Given the description of an element on the screen output the (x, y) to click on. 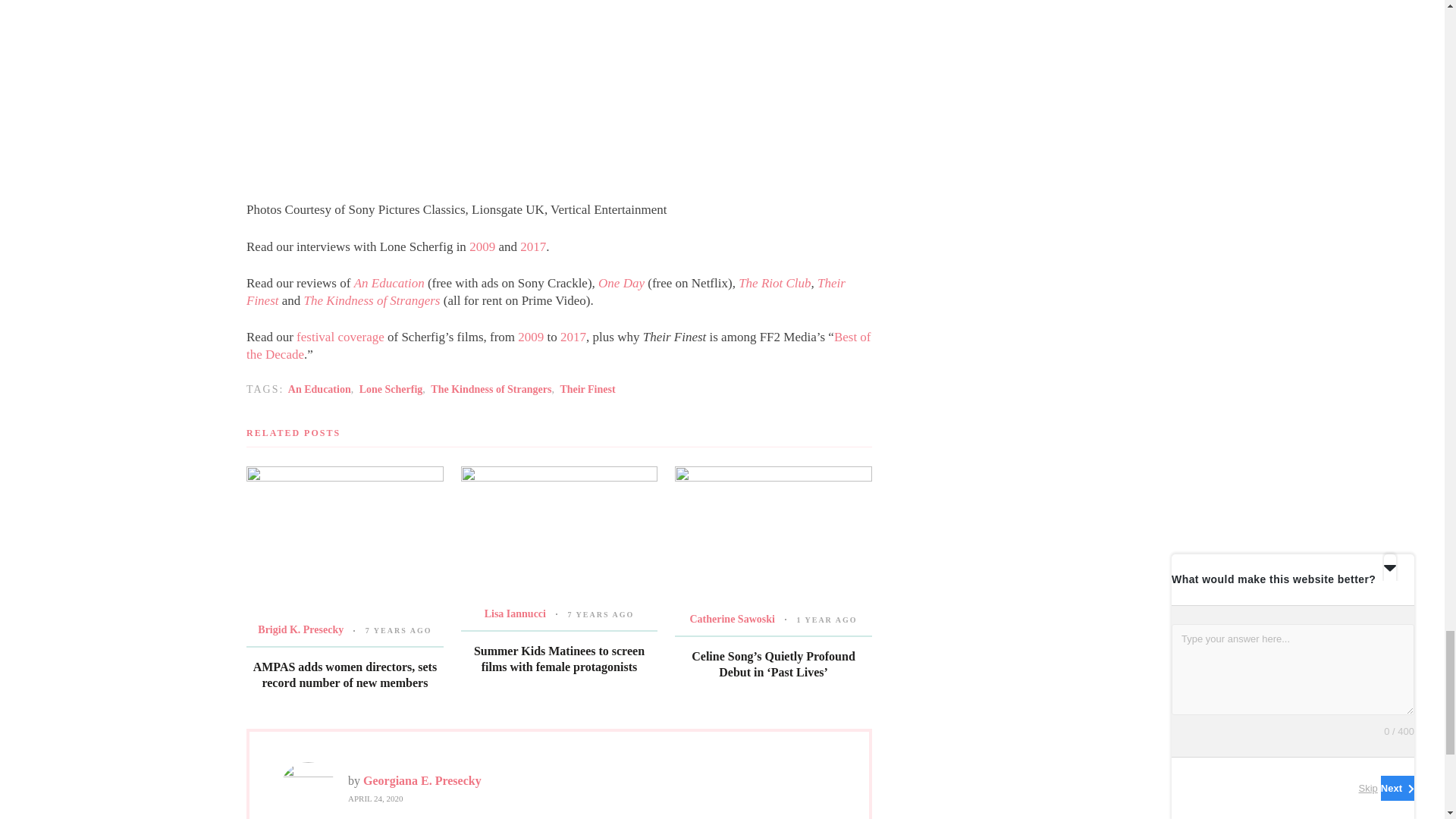
Posts by Lisa Iannucci (515, 613)
Posts by Georgiana E. Presecky (421, 780)
Posts by Catherine Sawoski (731, 618)
Posts by Brigid K. Presecky (300, 629)
